Given the description of an element on the screen output the (x, y) to click on. 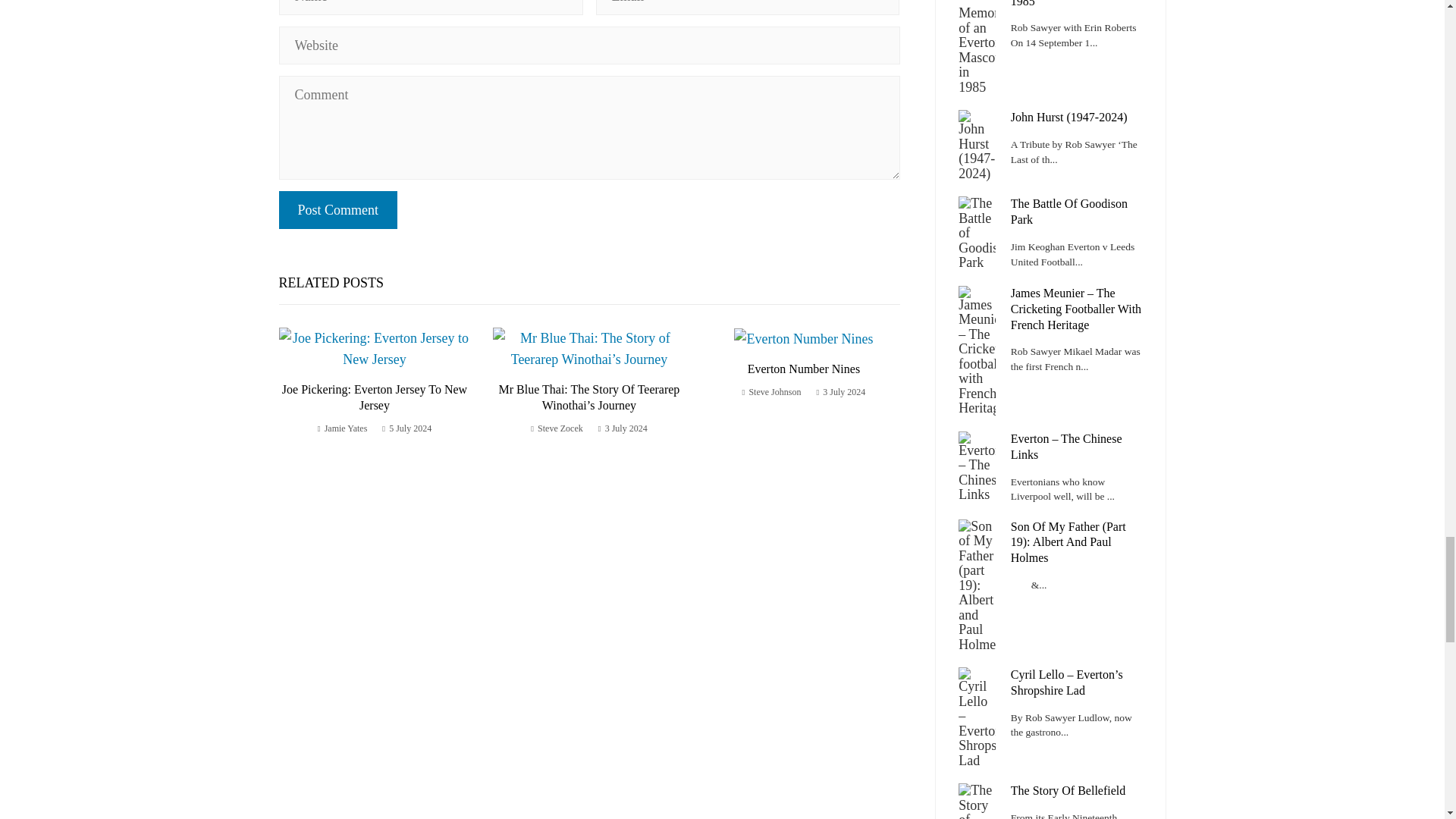
Everton Number Nines (804, 368)
Post Comment (338, 209)
Joe Pickering: Everton Jersey to New Jersey (374, 397)
